Given the description of an element on the screen output the (x, y) to click on. 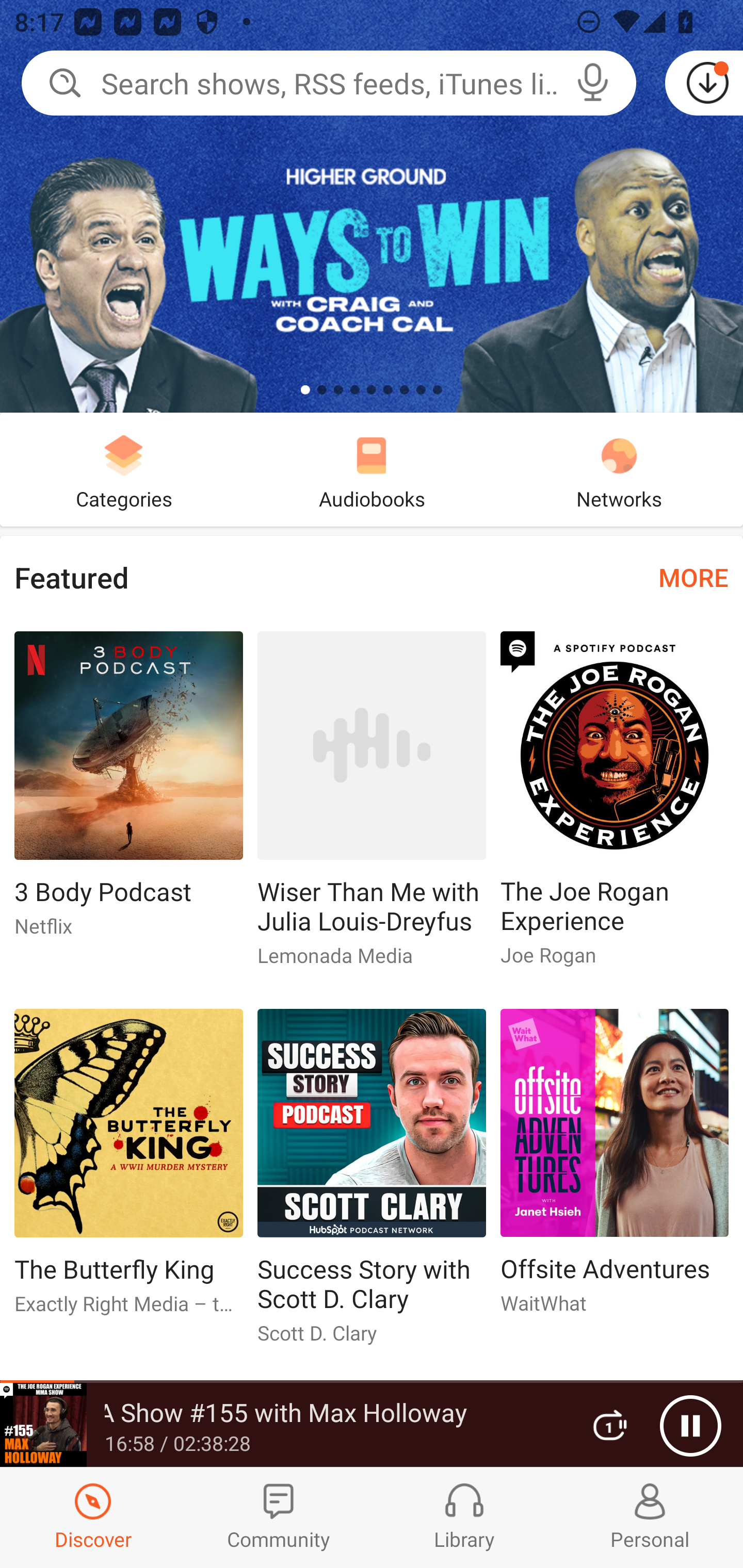
Ways To Win (371, 206)
Categories (123, 469)
Audiobooks (371, 469)
Networks (619, 469)
MORE (693, 576)
3 Body Podcast 3 Body Podcast Netflix (128, 792)
Offsite Adventures Offsite Adventures WaitWhat (614, 1169)
Pause (690, 1425)
Discover (92, 1517)
Community (278, 1517)
